Given the description of an element on the screen output the (x, y) to click on. 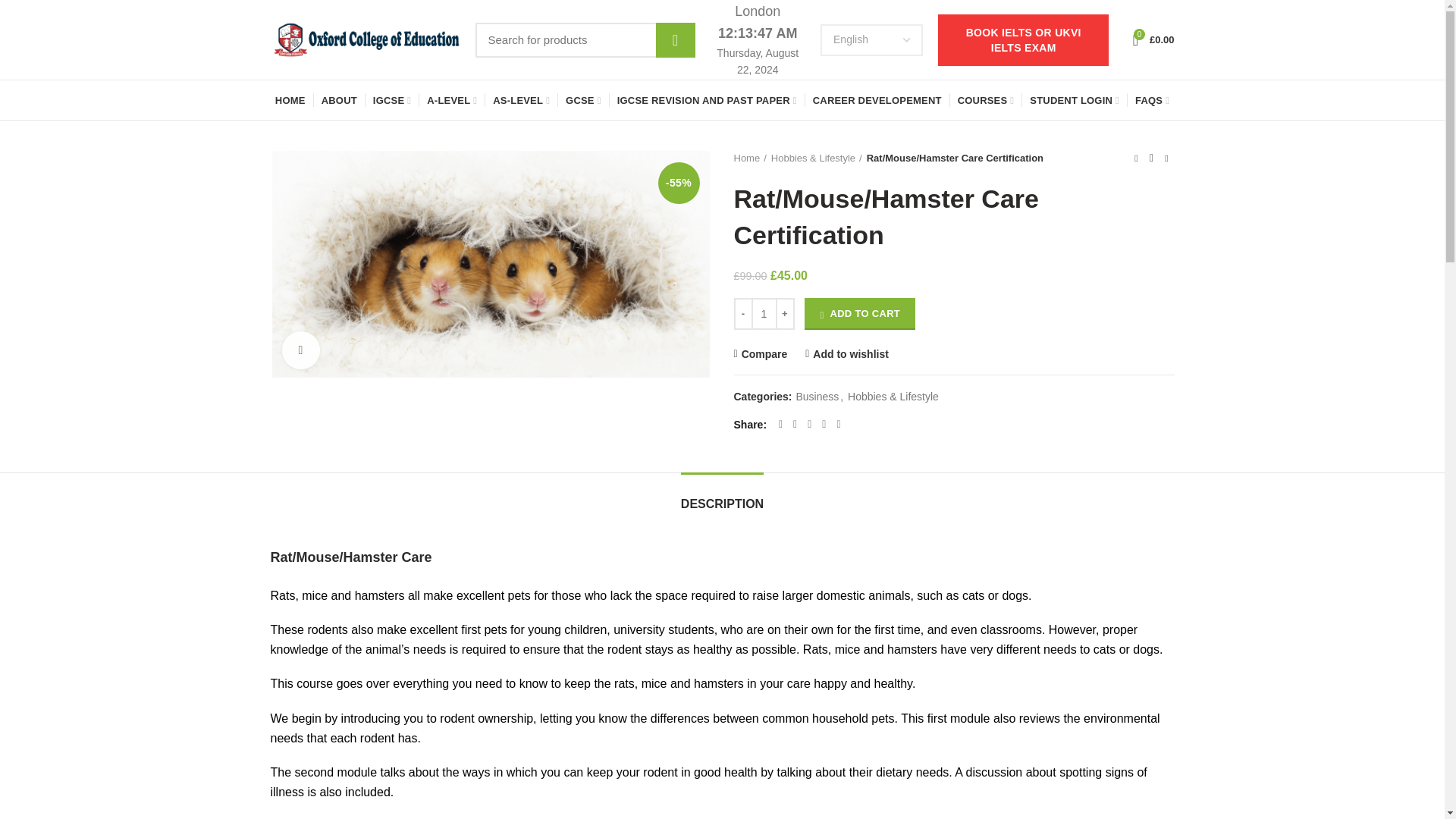
IGCSE (392, 99)
Shopping cart (1153, 39)
BOOK IELTS OR UKVI IELTS EXAM (1022, 39)
ABOUT (339, 99)
rat-mouse-hamster-care.png (489, 263)
HOME (290, 99)
SEARCH (674, 39)
A-LEVEL (451, 99)
